Given the description of an element on the screen output the (x, y) to click on. 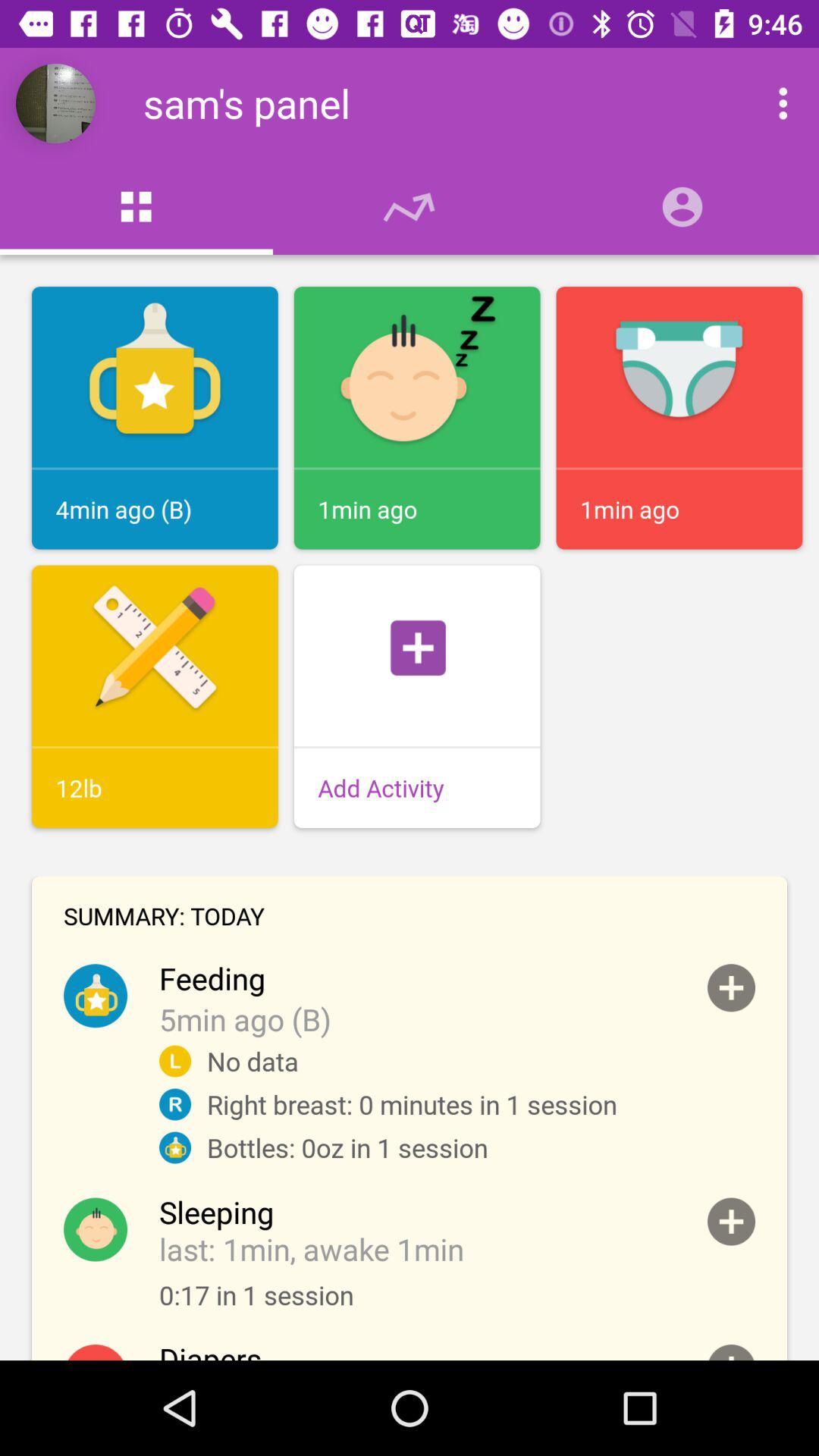
add option (731, 1221)
